Given the description of an element on the screen output the (x, y) to click on. 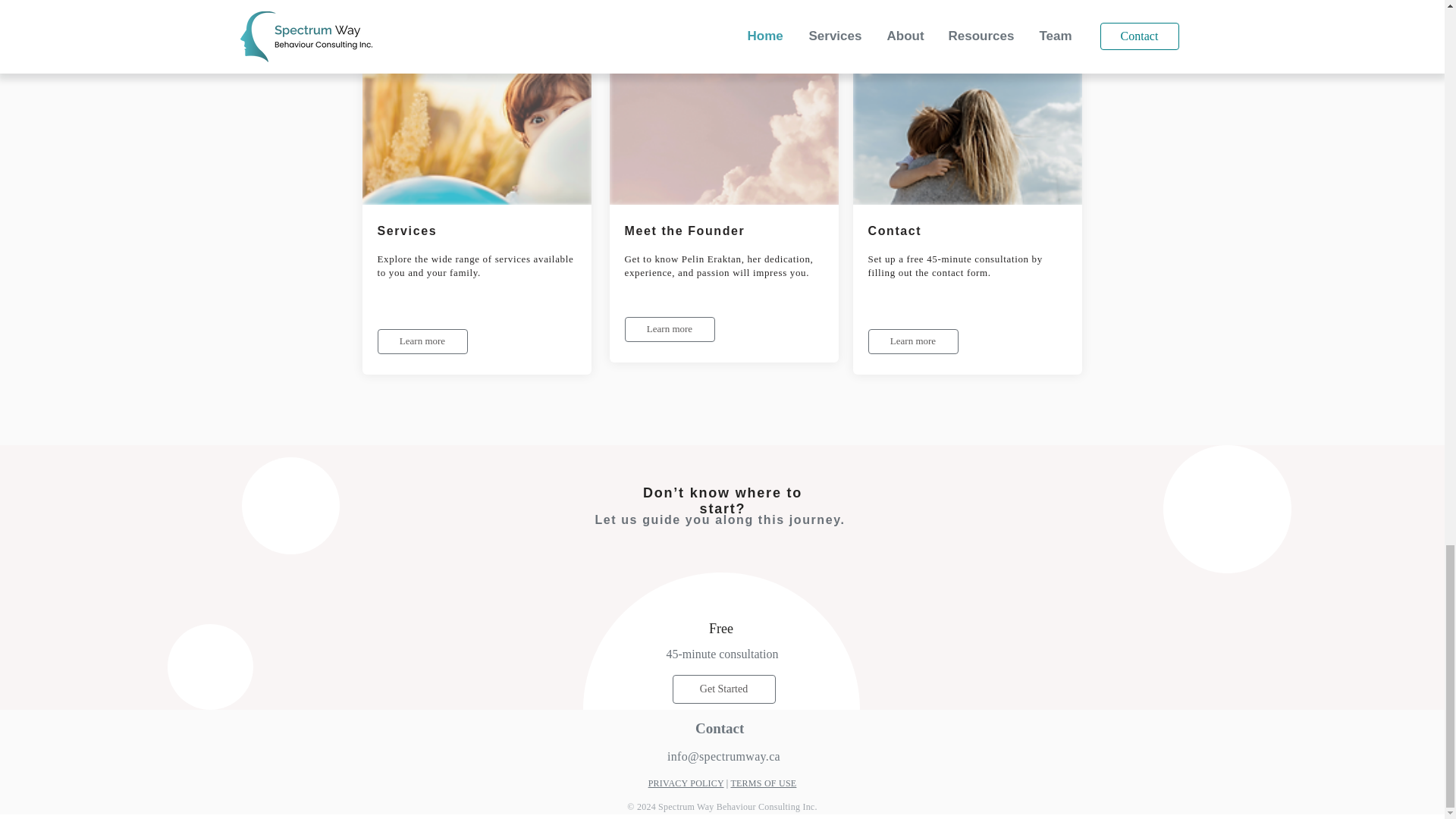
Learn more (422, 341)
Get Started (722, 688)
Learn more (669, 329)
Learn more (912, 341)
PRIVACY POLICY (685, 783)
TERMS OF USE (763, 783)
